Given the description of an element on the screen output the (x, y) to click on. 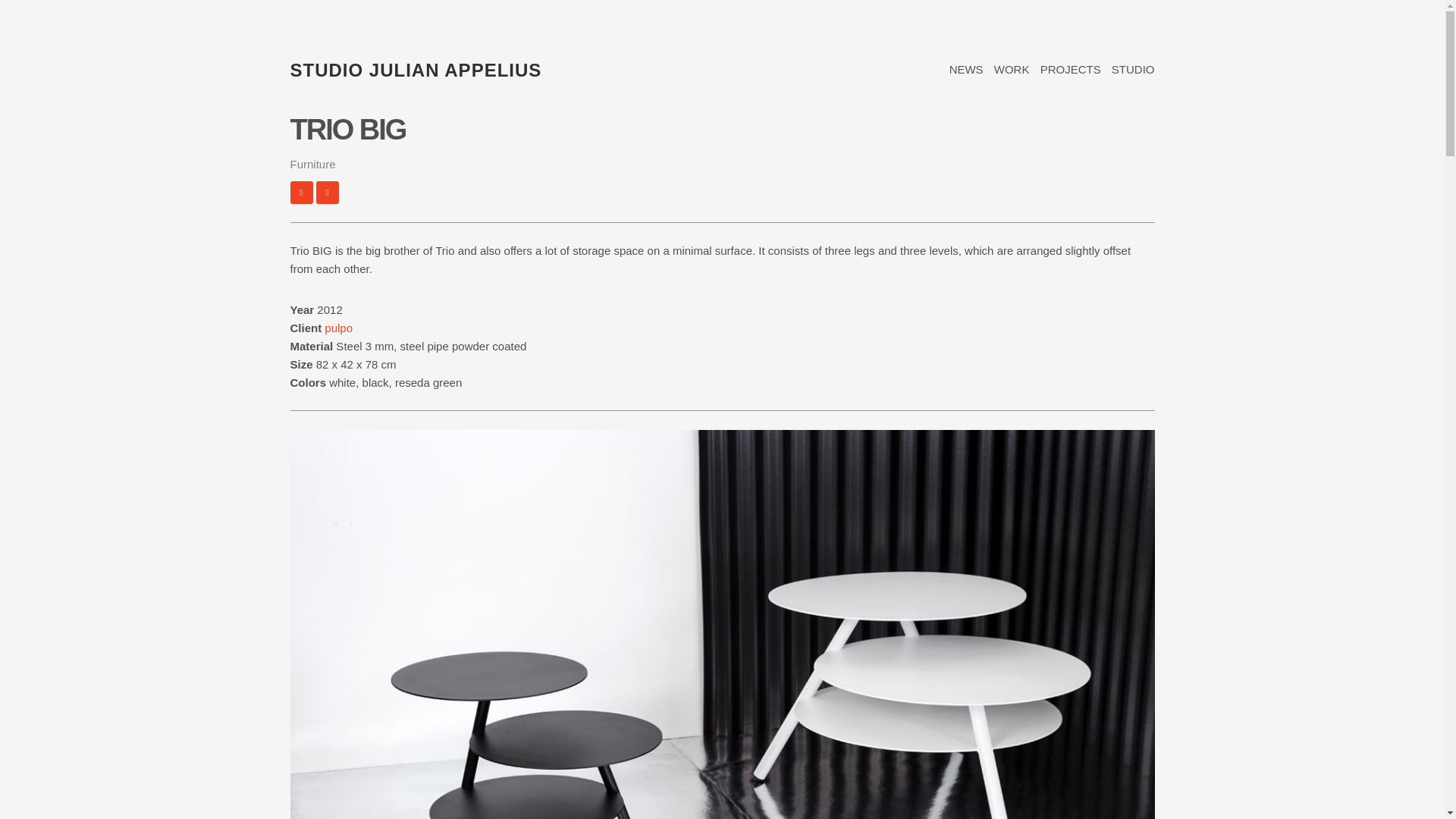
PROJECTS (1070, 69)
STUDIO (1133, 69)
NEWS (966, 69)
WORK (1011, 69)
pulpo (338, 327)
STUDIO JULIAN APPELIUS (415, 69)
Blind Passengers (301, 191)
Topple (327, 191)
Studio Julian Appelius (415, 69)
